Given the description of an element on the screen output the (x, y) to click on. 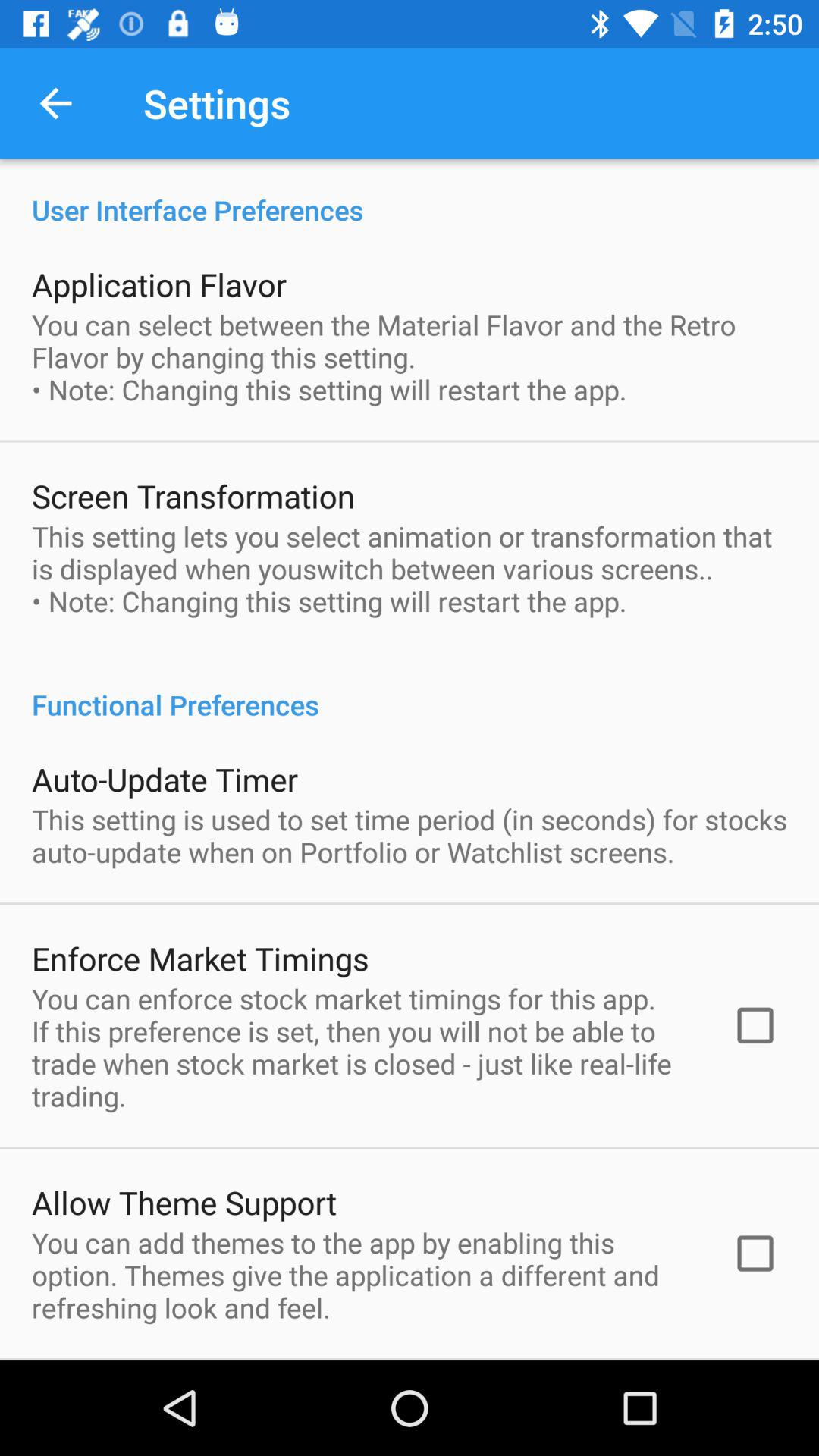
swipe to allow theme support (183, 1201)
